Given the description of an element on the screen output the (x, y) to click on. 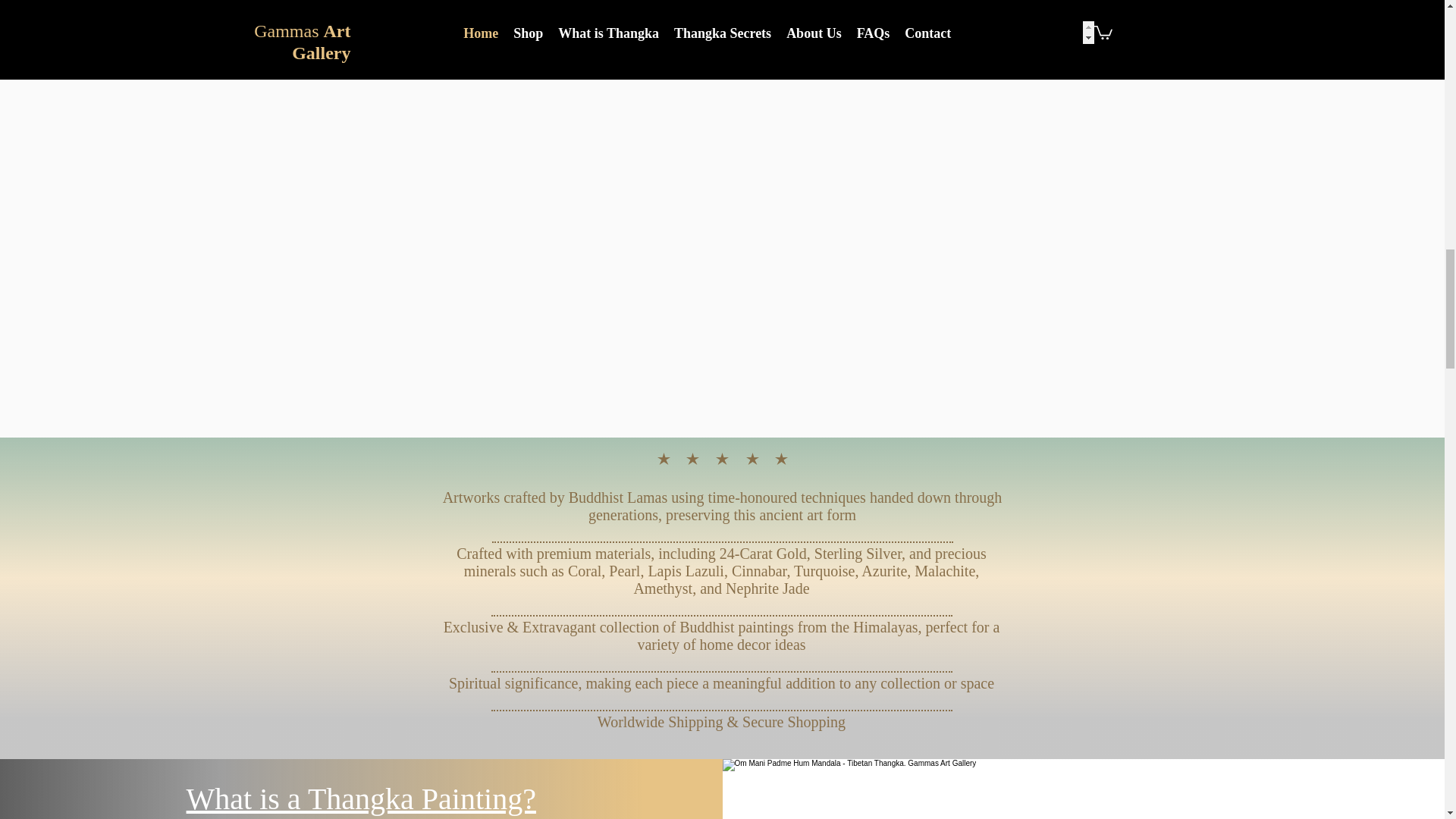
What is a Thangka Painting? (360, 798)
